Given the description of an element on the screen output the (x, y) to click on. 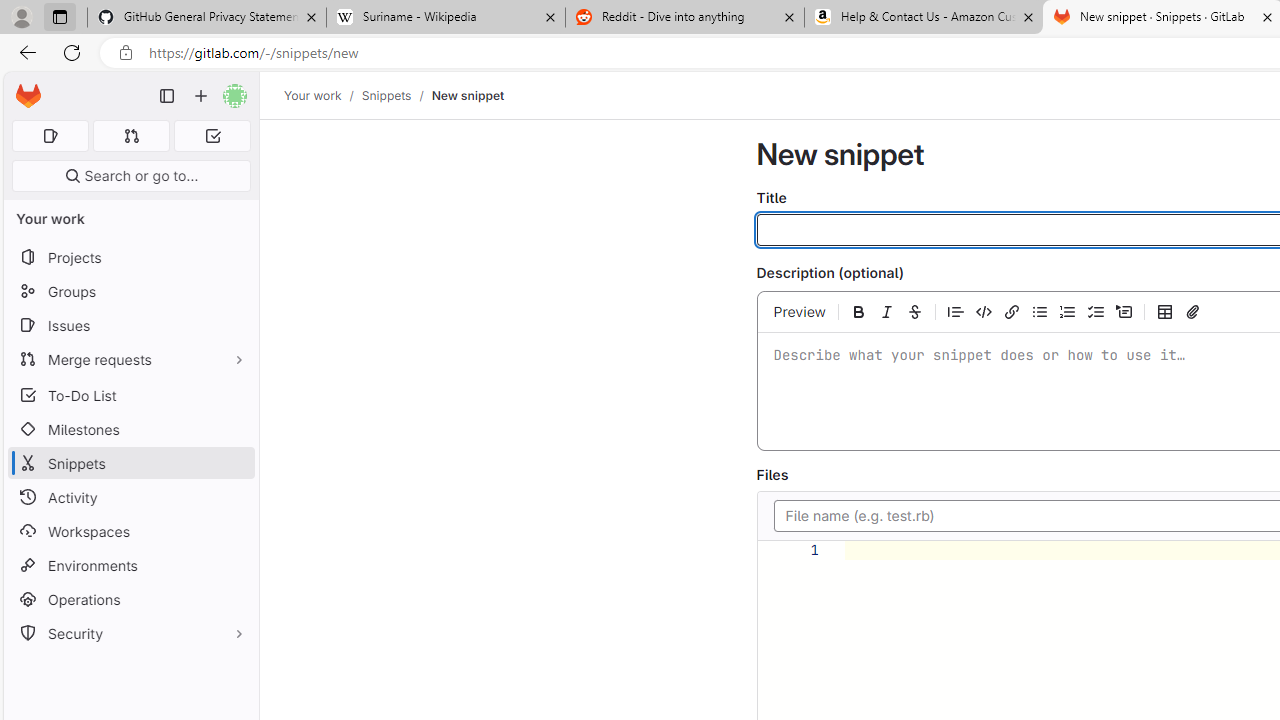
To-Do List (130, 394)
Your work/ (323, 95)
Insert code (983, 311)
Activity (130, 497)
Operations (130, 599)
Attach a file or image (1192, 311)
Suriname - Wikipedia (445, 17)
To-Do list 0 (212, 136)
Skip to main content (23, 87)
Add strikethrough text (Ctrl+Shift+X) (914, 311)
Reddit - Dive into anything (684, 17)
Add italic text (Ctrl+I) (886, 311)
Milestones (130, 429)
